Given the description of an element on the screen output the (x, y) to click on. 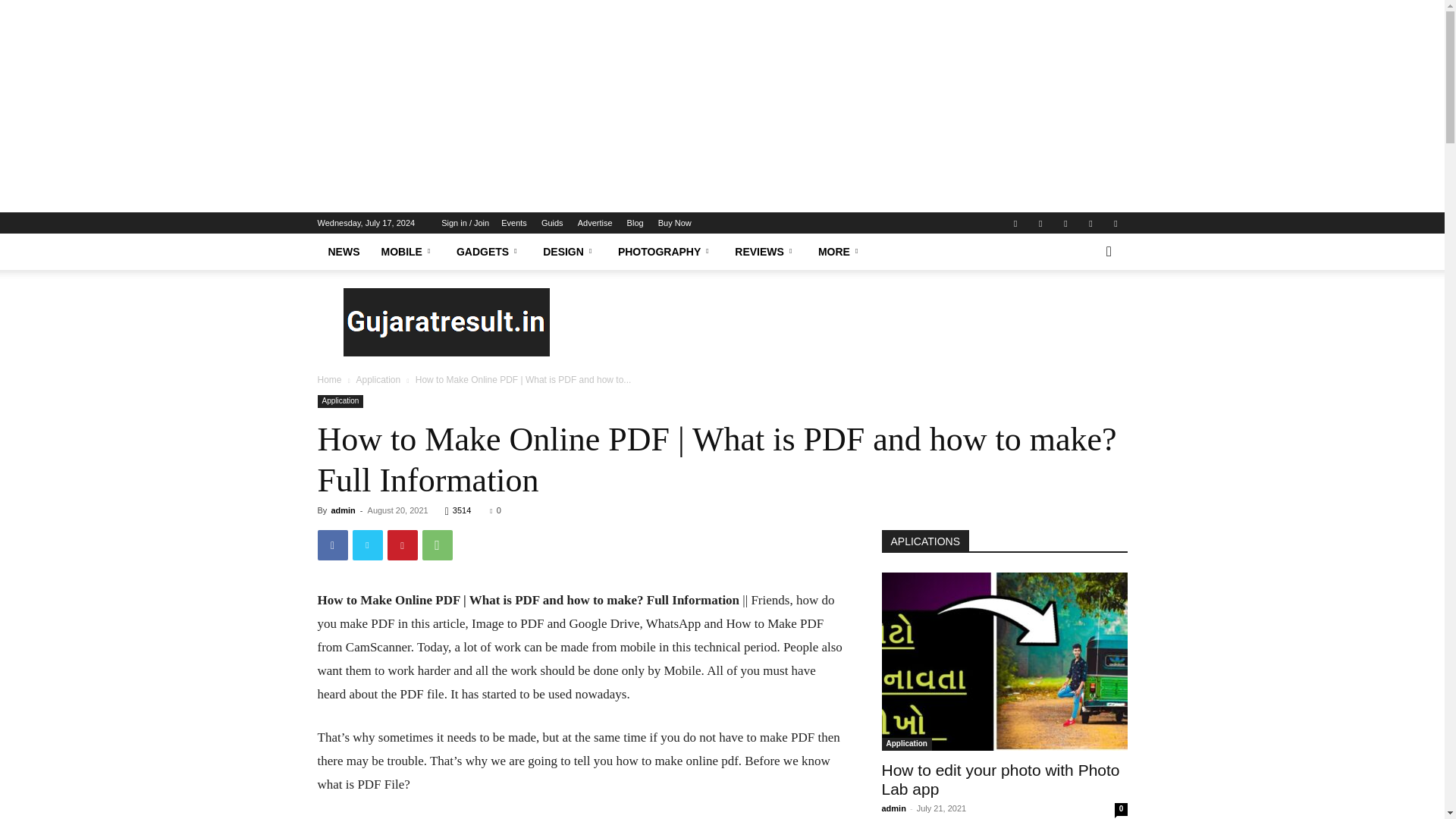
Advertise (595, 222)
Buy Now (674, 222)
Facebook (1015, 222)
Guids (552, 222)
MOBILE (407, 251)
Blog (635, 222)
VKontakte (1090, 222)
Vimeo (1065, 222)
NEWS (343, 251)
GADGETS (488, 251)
Youtube (1114, 222)
Events (513, 222)
Twitter (1040, 222)
